Given the description of an element on the screen output the (x, y) to click on. 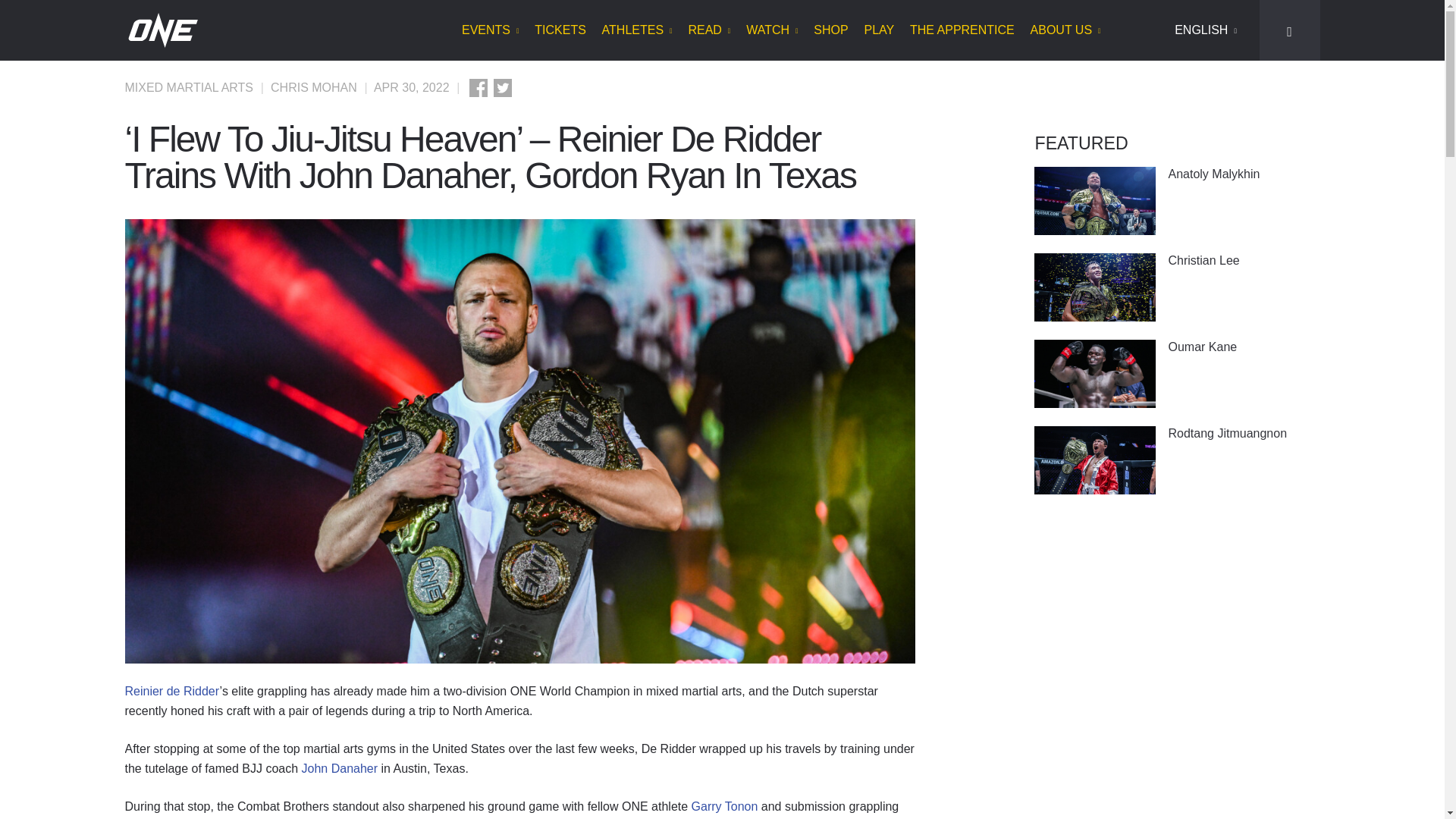
THE APPRENTICE (962, 30)
Christian Lee (1243, 260)
Anatoly Malykhin (1094, 201)
Oumar Kane (1094, 373)
Oumar Kane (1243, 346)
Anatoly Malykhin (1243, 173)
Christian Lee (1094, 287)
EVENTS (490, 30)
Rodtang Jitmuangnon (1243, 432)
Rodtang Jitmuangnon (1094, 459)
